Given the description of an element on the screen output the (x, y) to click on. 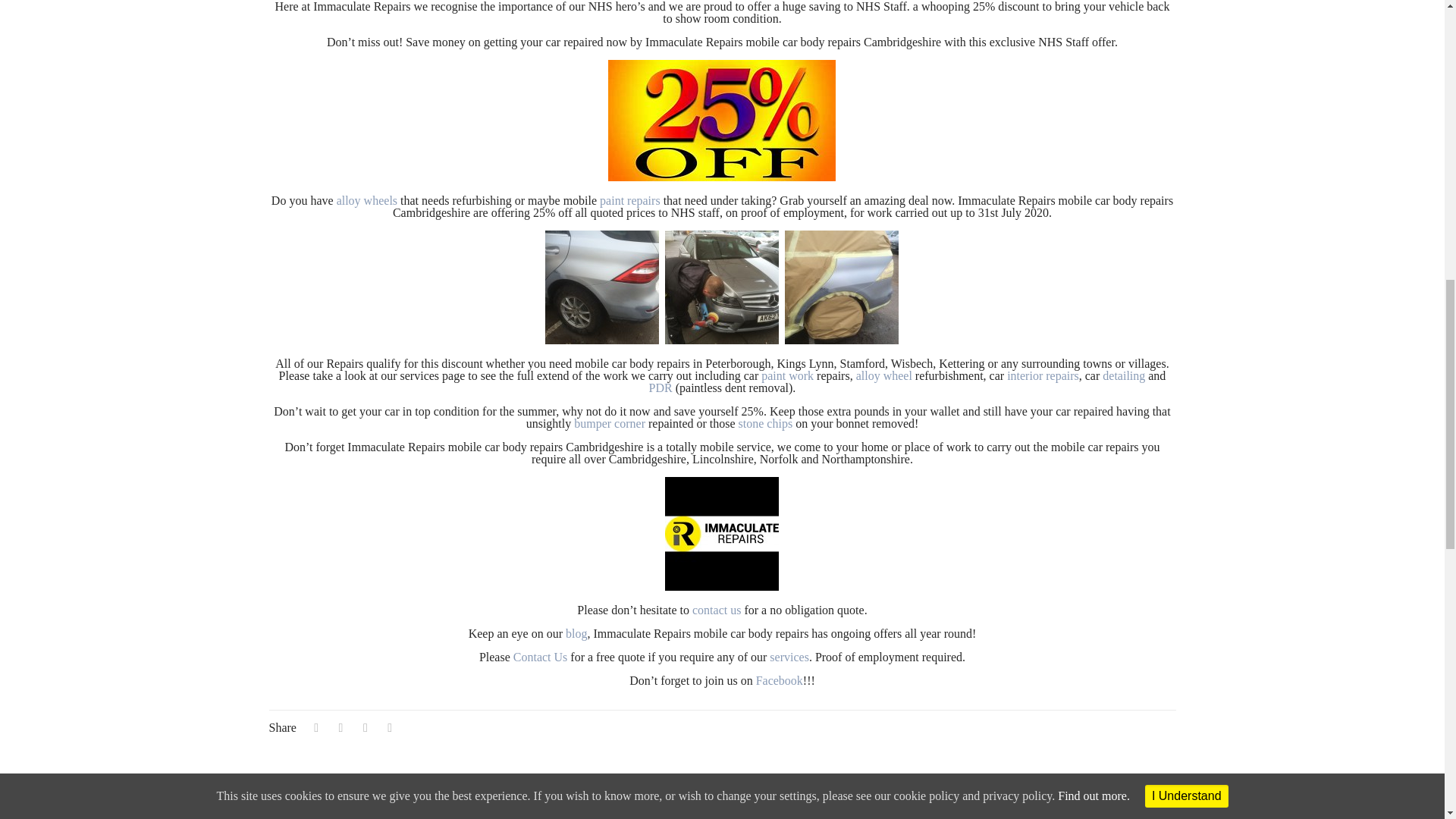
alloy wheels (366, 200)
interior repairs (1042, 375)
detailing (1123, 375)
stone chips (765, 422)
services (789, 656)
paint work (787, 375)
Contact Us (540, 656)
alloy wheel (884, 375)
PDR (660, 387)
paint repairs (630, 200)
blog (576, 633)
contact us (717, 609)
bumper corner (609, 422)
Facebook (779, 680)
